Given the description of an element on the screen output the (x, y) to click on. 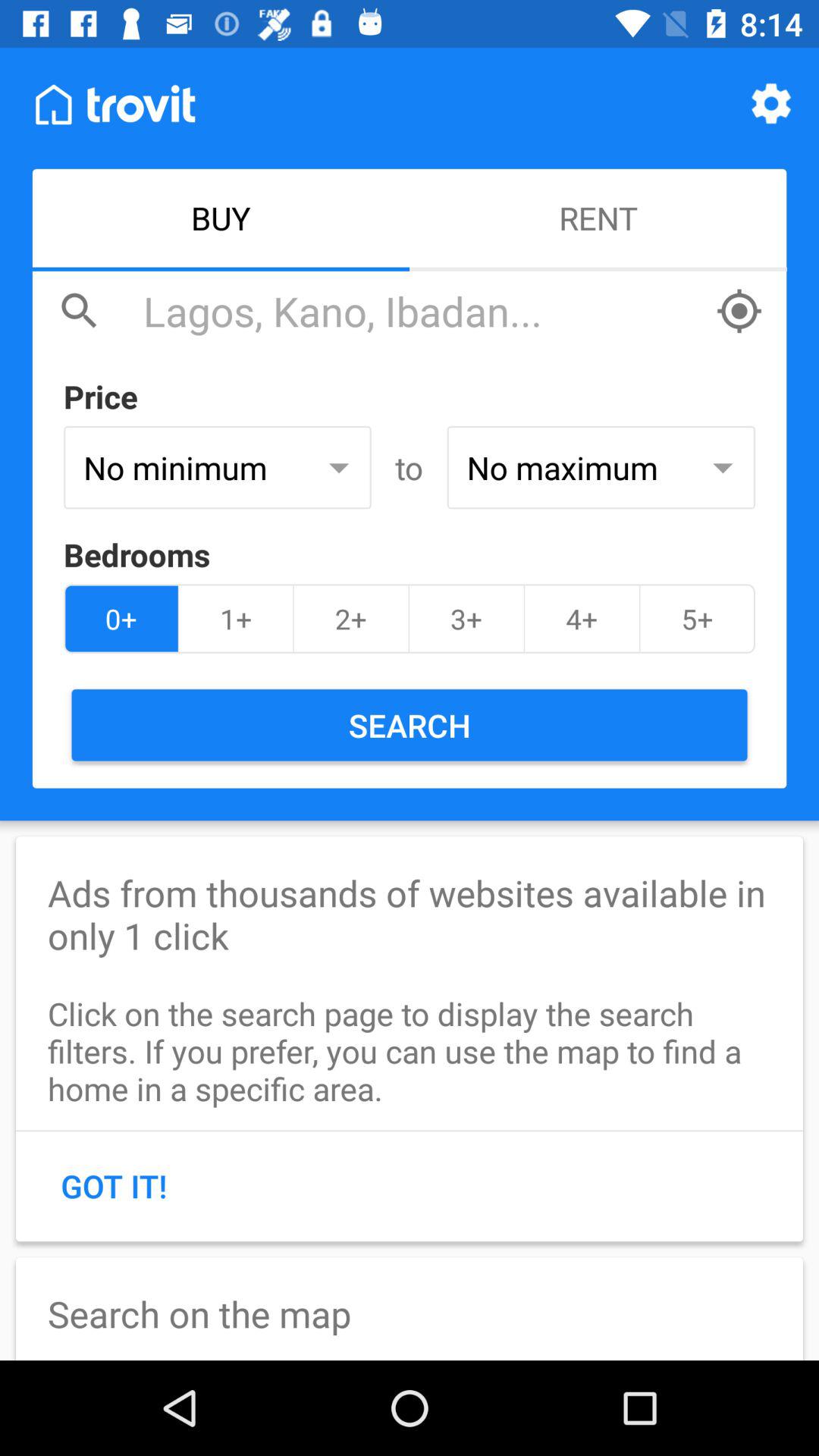
click item above the search icon (581, 618)
